Given the description of an element on the screen output the (x, y) to click on. 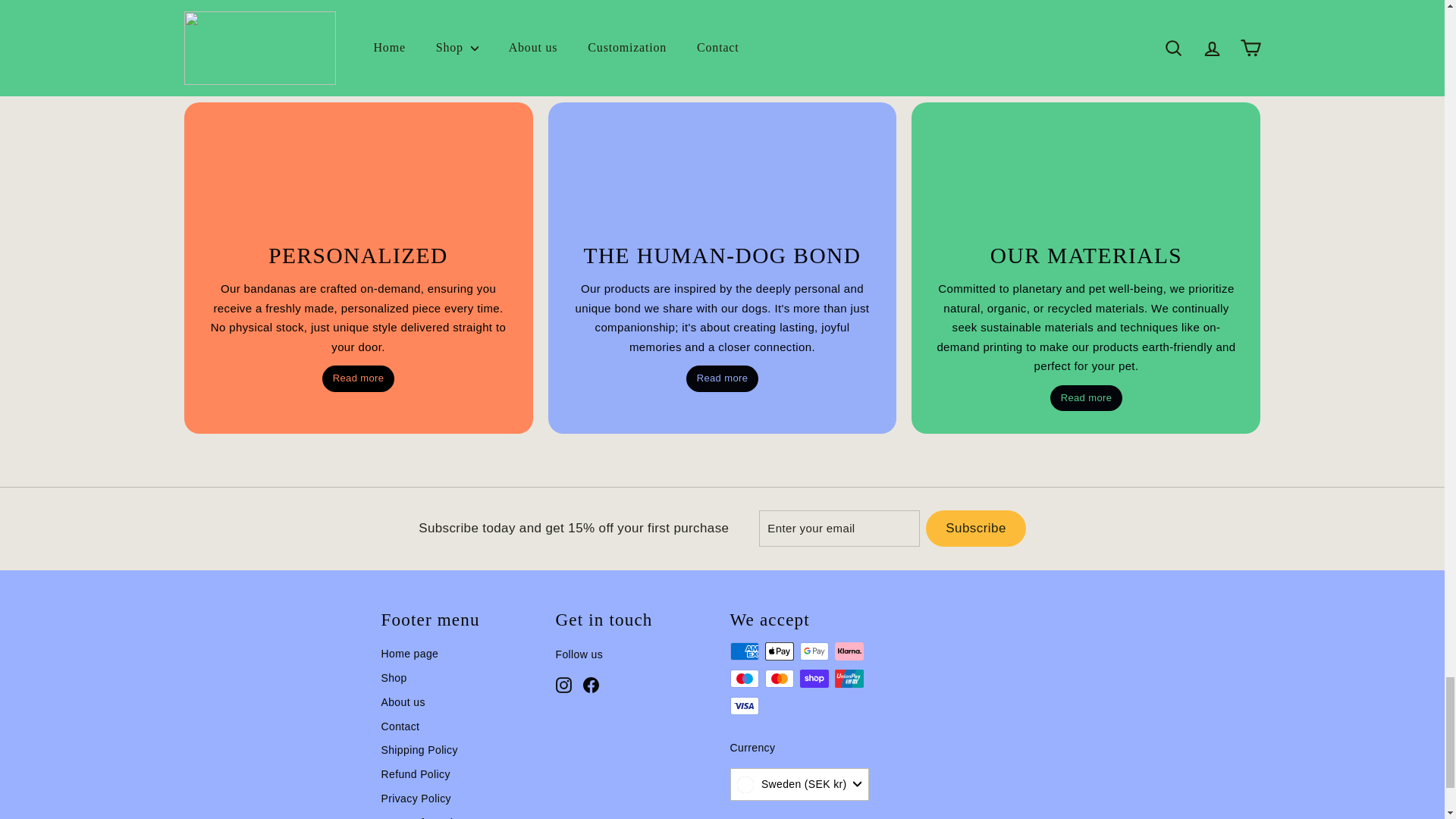
Visa (743, 705)
Union Pay (848, 678)
American Express (743, 651)
Apple Pay (778, 651)
Maestro (743, 678)
Klarna (848, 651)
Mastercard (778, 678)
instagram (562, 684)
Shop Pay (813, 678)
Google Pay (813, 651)
